Given the description of an element on the screen output the (x, y) to click on. 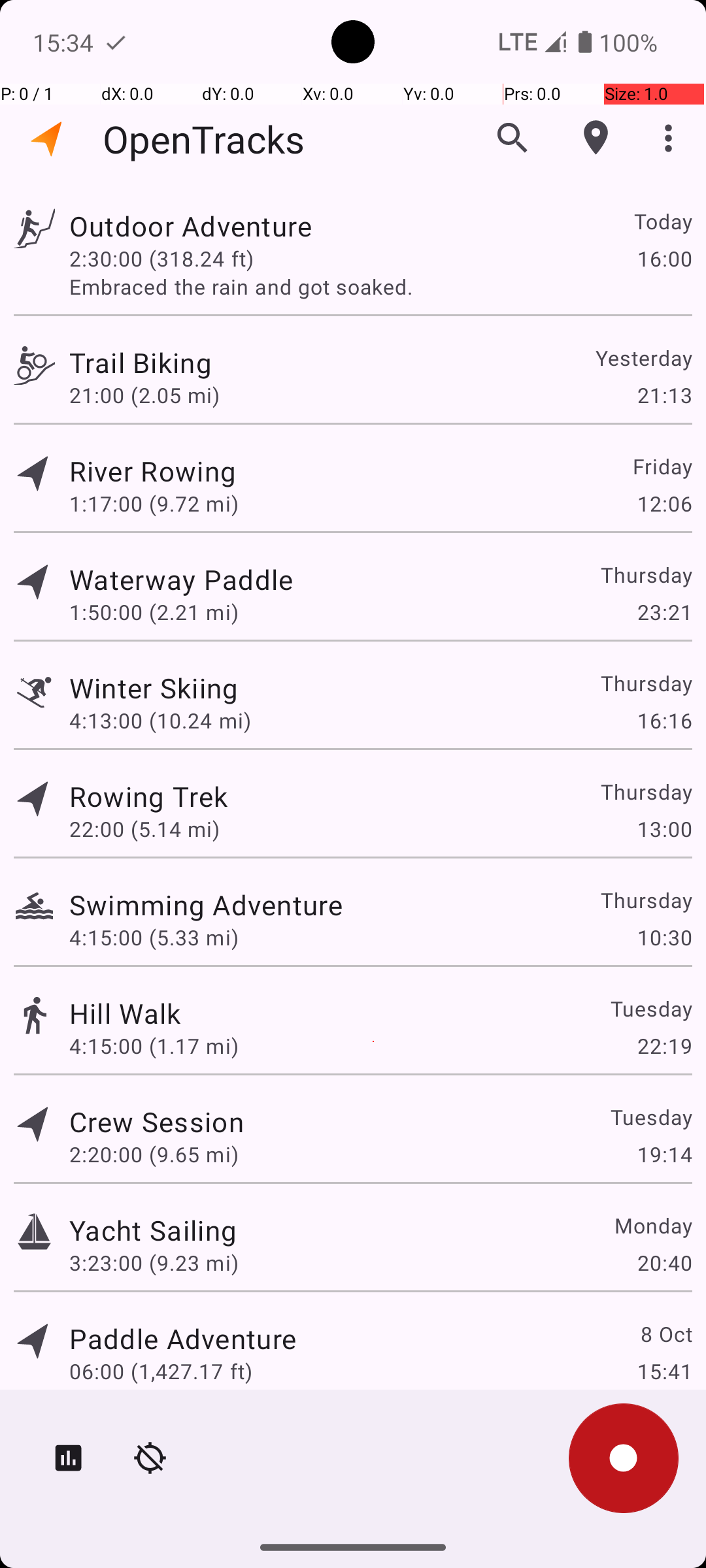
Outdoor Adventure Element type: android.widget.TextView (190, 225)
2:30:00 (318.24 ft) Element type: android.widget.TextView (161, 258)
Embraced the rain and got soaked. Element type: android.widget.TextView (380, 286)
Trail Biking Element type: android.widget.TextView (140, 361)
21:00 (2.05 mi) Element type: android.widget.TextView (144, 394)
21:13 Element type: android.widget.TextView (664, 394)
River Rowing Element type: android.widget.TextView (152, 470)
1:17:00 (9.72 mi) Element type: android.widget.TextView (153, 503)
12:06 Element type: android.widget.TextView (664, 503)
Waterway Paddle Element type: android.widget.TextView (180, 578)
1:50:00 (2.21 mi) Element type: android.widget.TextView (153, 611)
23:21 Element type: android.widget.TextView (664, 611)
Winter Skiing Element type: android.widget.TextView (153, 687)
4:13:00 (10.24 mi) Element type: android.widget.TextView (159, 720)
16:16 Element type: android.widget.TextView (664, 720)
Rowing Trek Element type: android.widget.TextView (148, 795)
22:00 (5.14 mi) Element type: android.widget.TextView (144, 828)
Swimming Adventure Element type: android.widget.TextView (205, 904)
4:15:00 (5.33 mi) Element type: android.widget.TextView (153, 937)
10:30 Element type: android.widget.TextView (664, 937)
Hill Walk Element type: android.widget.TextView (124, 1012)
4:15:00 (1.17 mi) Element type: android.widget.TextView (153, 1045)
22:19 Element type: android.widget.TextView (664, 1045)
Crew Session Element type: android.widget.TextView (156, 1121)
2:20:00 (9.65 mi) Element type: android.widget.TextView (153, 1154)
19:14 Element type: android.widget.TextView (664, 1154)
Yacht Sailing Element type: android.widget.TextView (152, 1229)
3:23:00 (9.23 mi) Element type: android.widget.TextView (153, 1262)
20:40 Element type: android.widget.TextView (664, 1262)
Paddle Adventure Element type: android.widget.TextView (182, 1337)
06:00 (1,427.17 ft) Element type: android.widget.TextView (160, 1370)
15:41 Element type: android.widget.TextView (664, 1370)
